Given the description of an element on the screen output the (x, y) to click on. 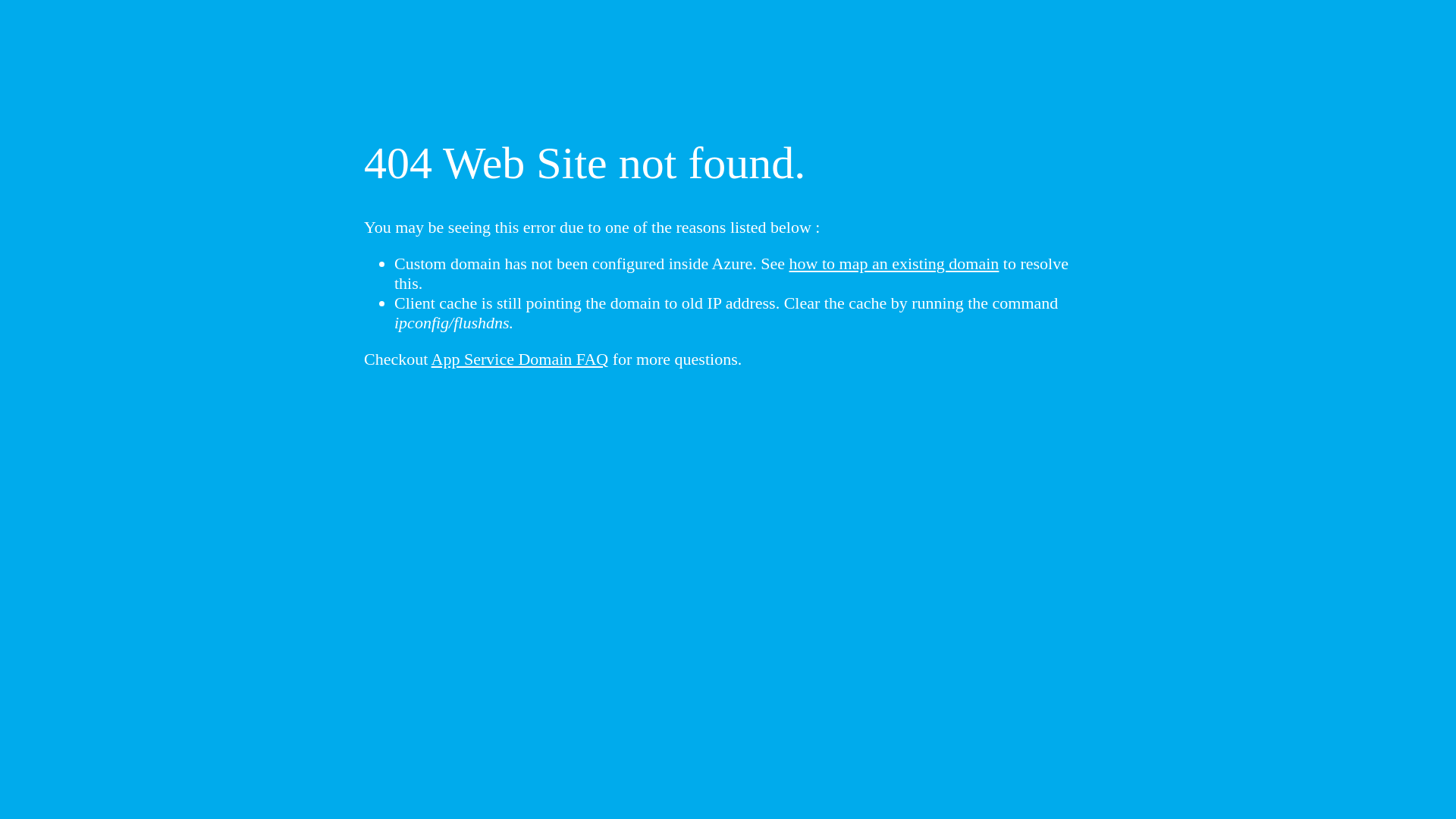
App Service Domain FAQ Element type: text (519, 358)
how to map an existing domain Element type: text (894, 263)
